Given the description of an element on the screen output the (x, y) to click on. 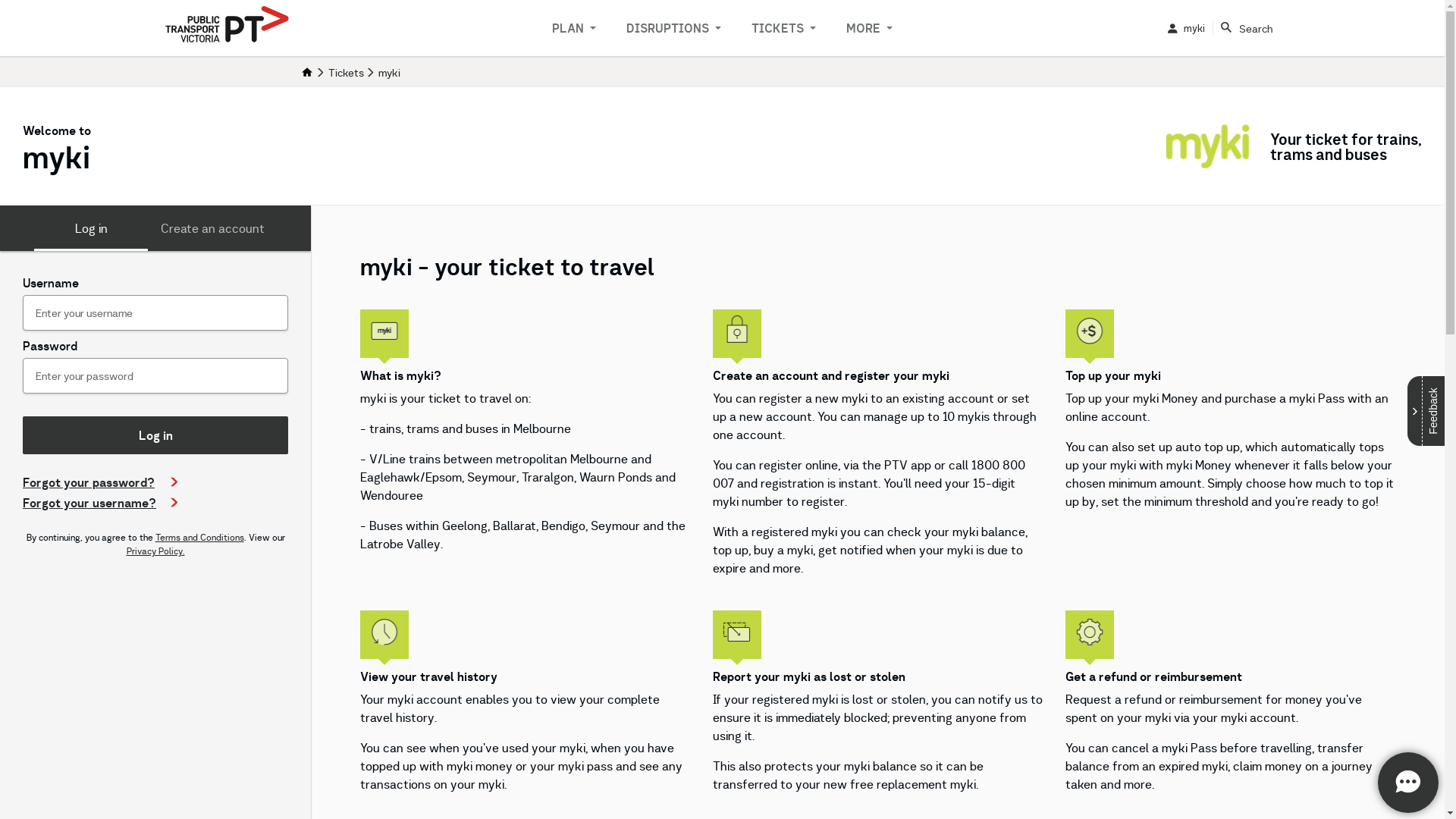
Forgot your username? Element type: text (99, 502)
Create an account Element type: text (211, 228)
Terms and Conditions Element type: text (198, 537)
Forgot your password? Element type: text (99, 481)
Tickets Element type: text (345, 72)
TICKETS Element type: text (783, 28)
MORE Element type: text (869, 28)
Home Element type: text (307, 72)
Log in Element type: text (90, 228)
myki Element type: text (388, 72)
Log in Element type: text (155, 435)
myki Element type: text (1185, 27)
PTV home page Element type: hover (226, 26)
DISRUPTIONS Element type: text (673, 28)
Privacy Policy. Element type: text (154, 550)
Open Search Button
Search Element type: text (1246, 27)
PLAN Element type: text (574, 28)
